Given the description of an element on the screen output the (x, y) to click on. 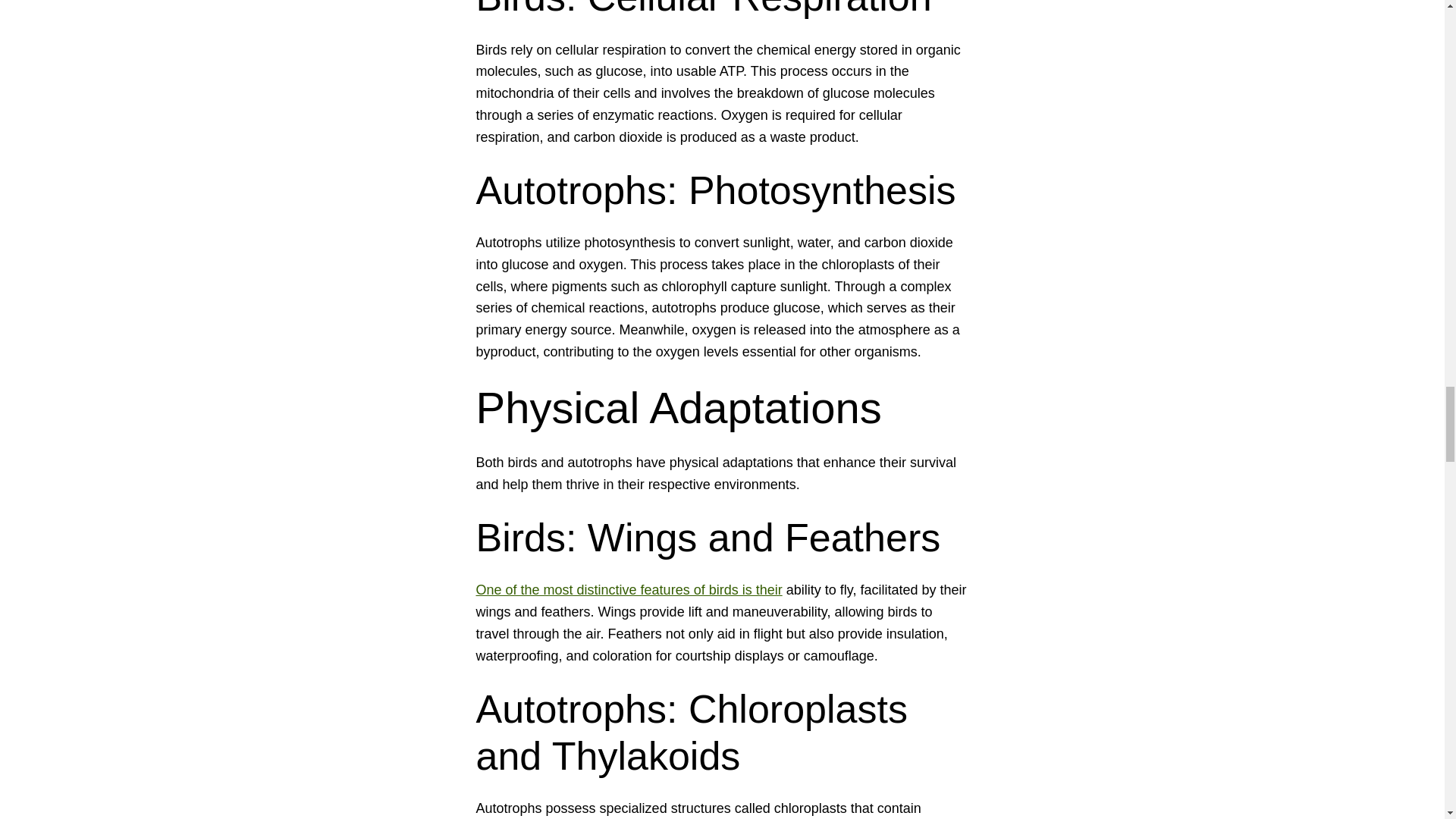
One of the most distinctive features of birds is their (629, 589)
